Given the description of an element on the screen output the (x, y) to click on. 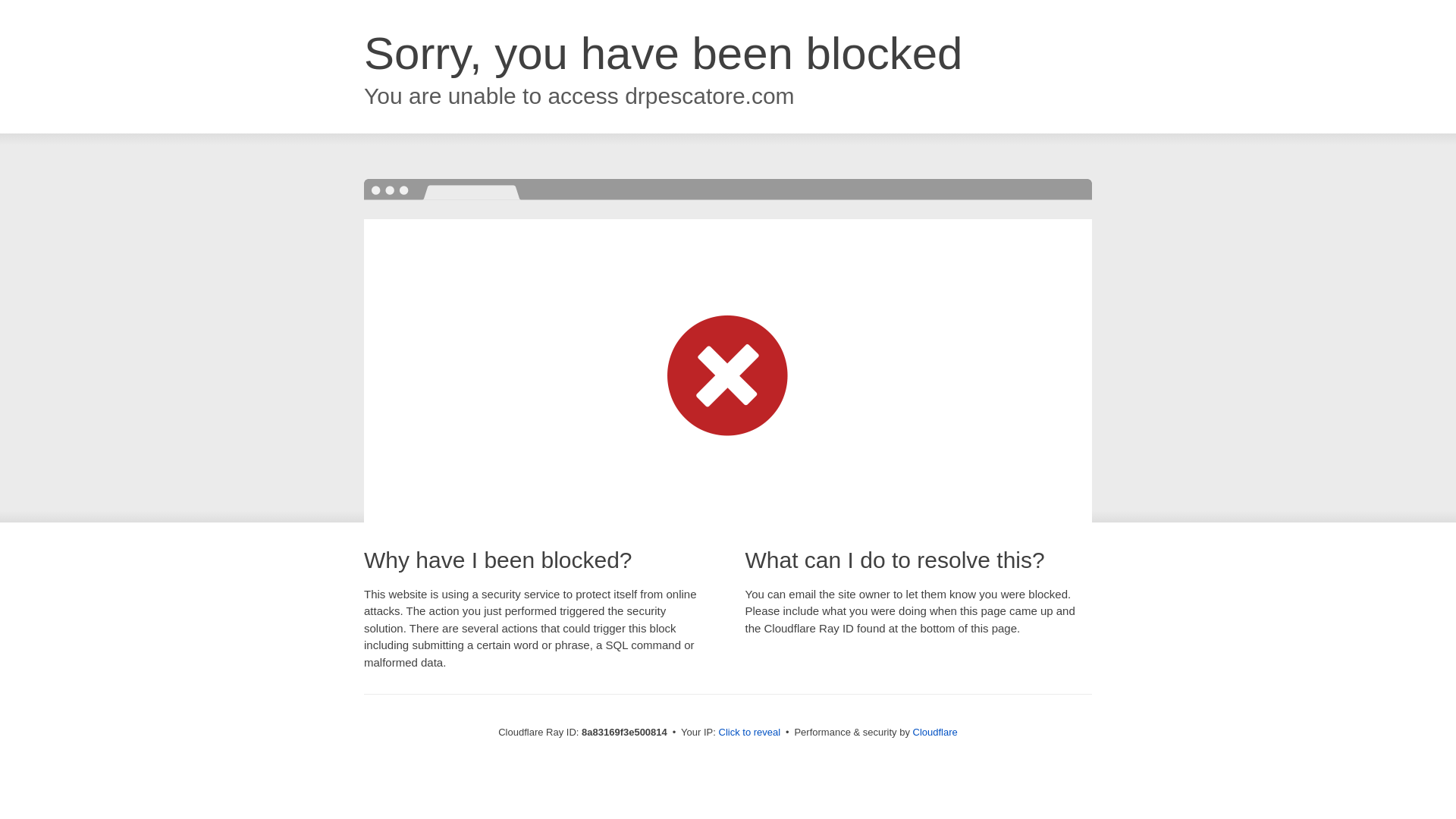
Cloudflare (935, 731)
Click to reveal (749, 732)
